Given the description of an element on the screen output the (x, y) to click on. 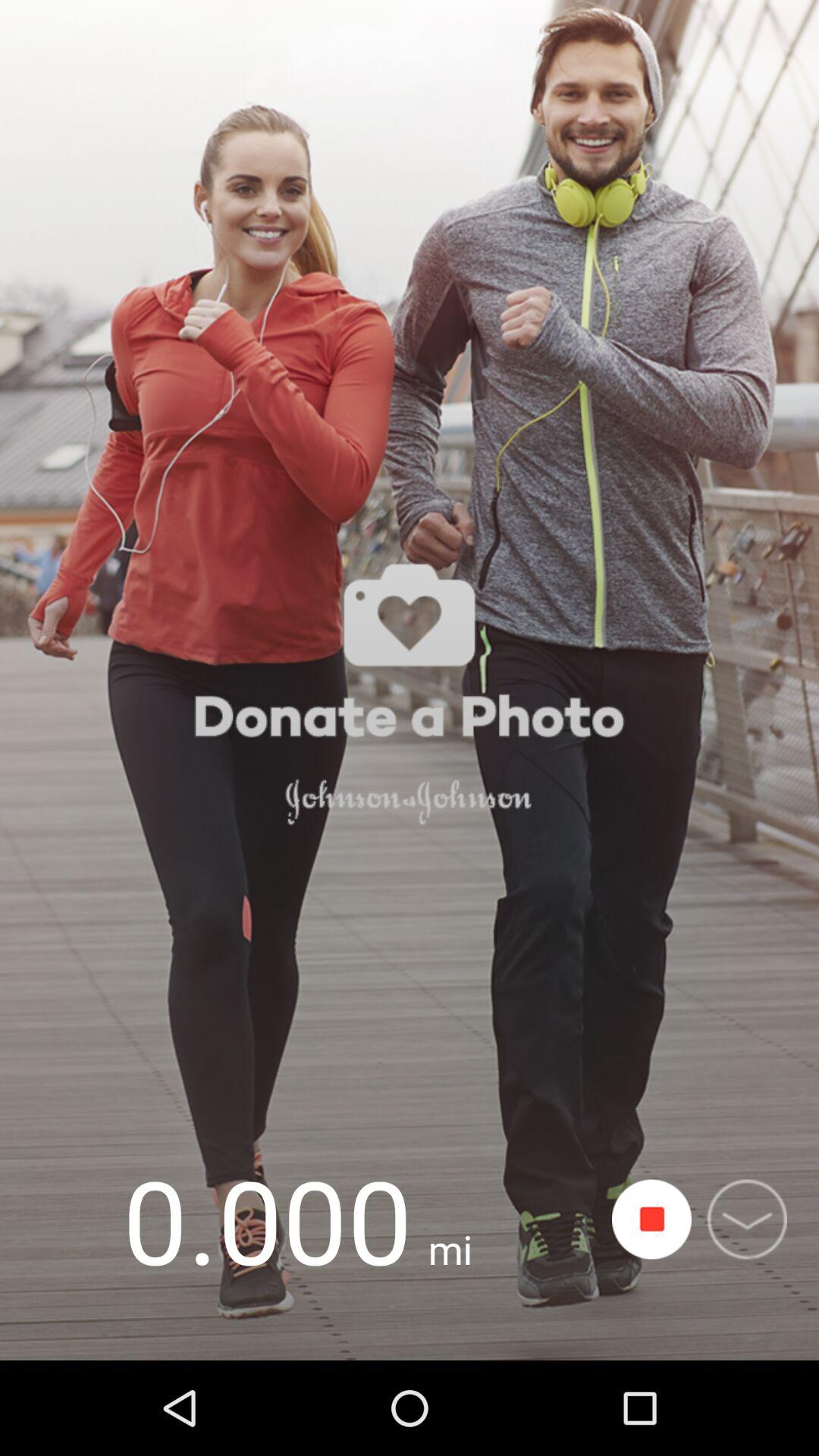
stop (651, 1219)
